Given the description of an element on the screen output the (x, y) to click on. 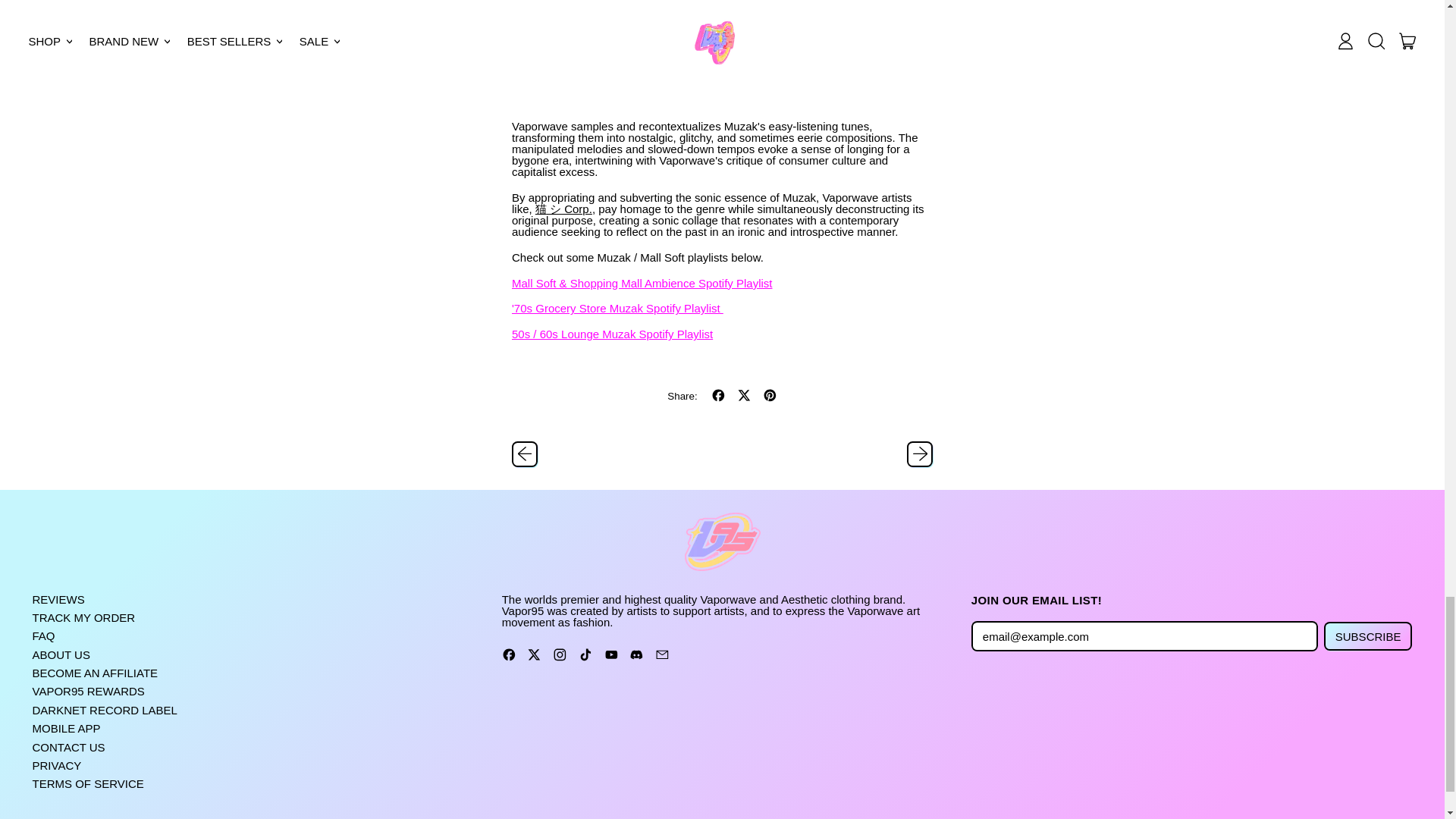
YouTube video player (722, 53)
